Given the description of an element on the screen output the (x, y) to click on. 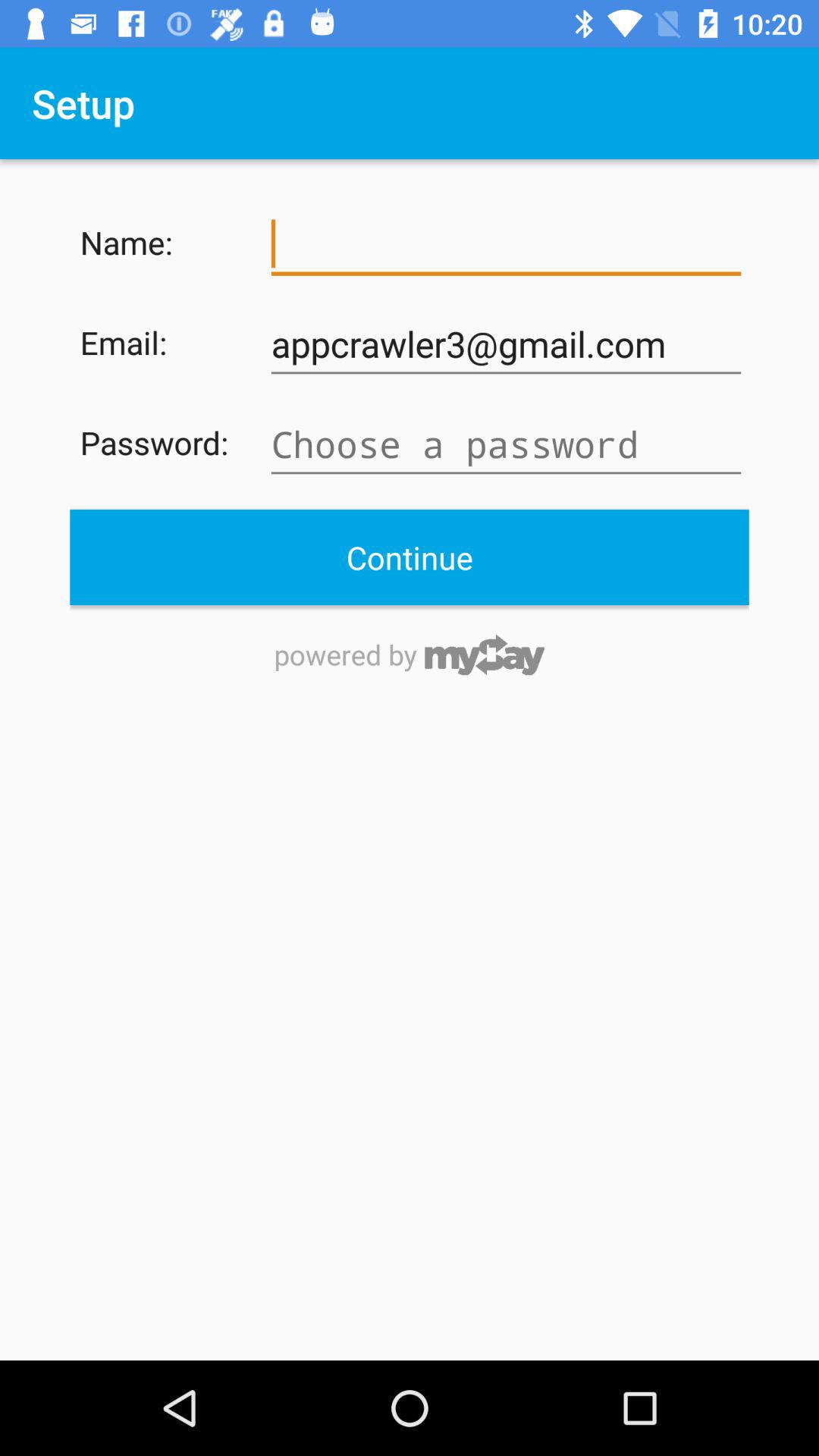
add name field (506, 244)
